Given the description of an element on the screen output the (x, y) to click on. 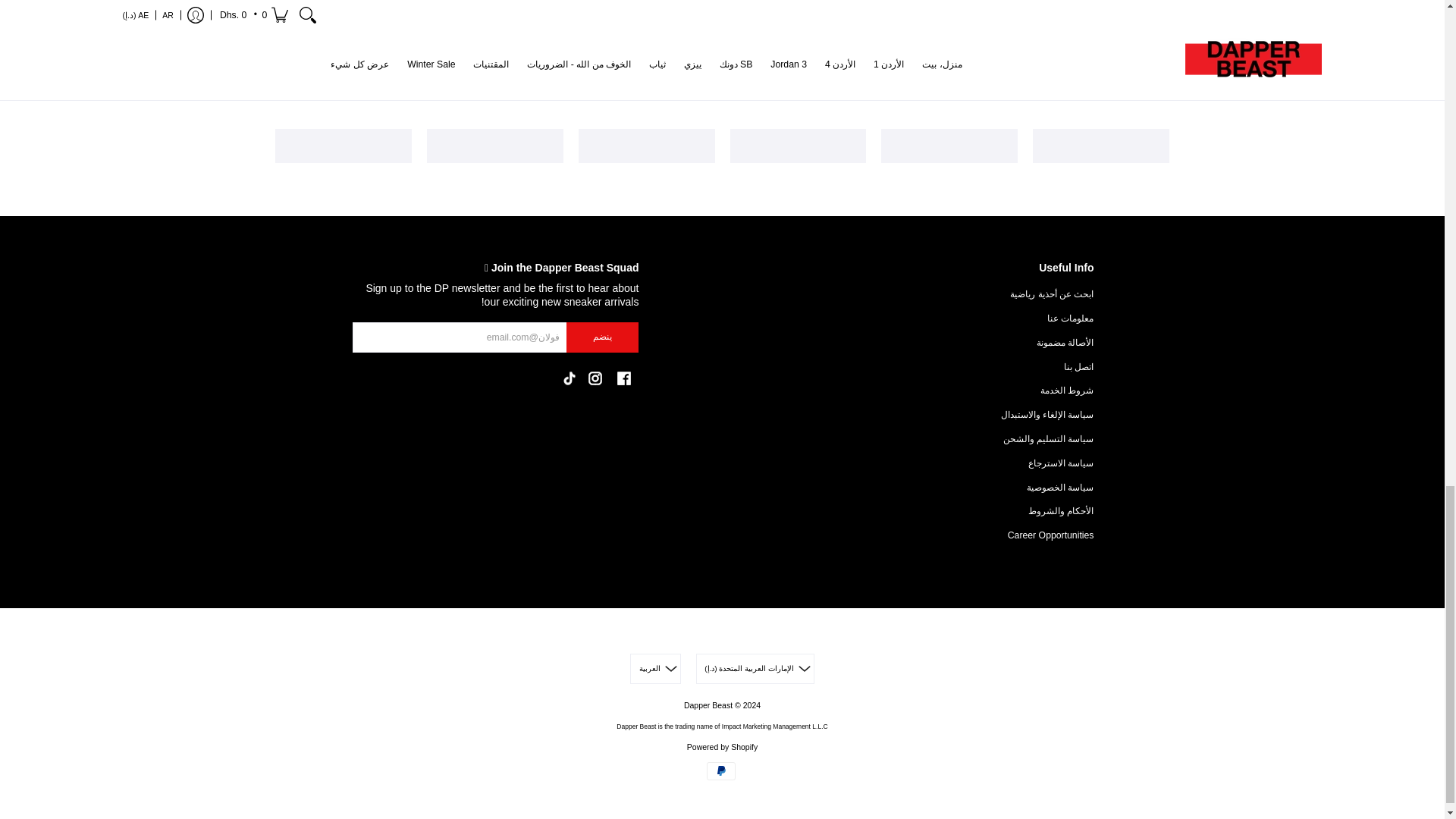
PayPal (720, 771)
